Given the description of an element on the screen output the (x, y) to click on. 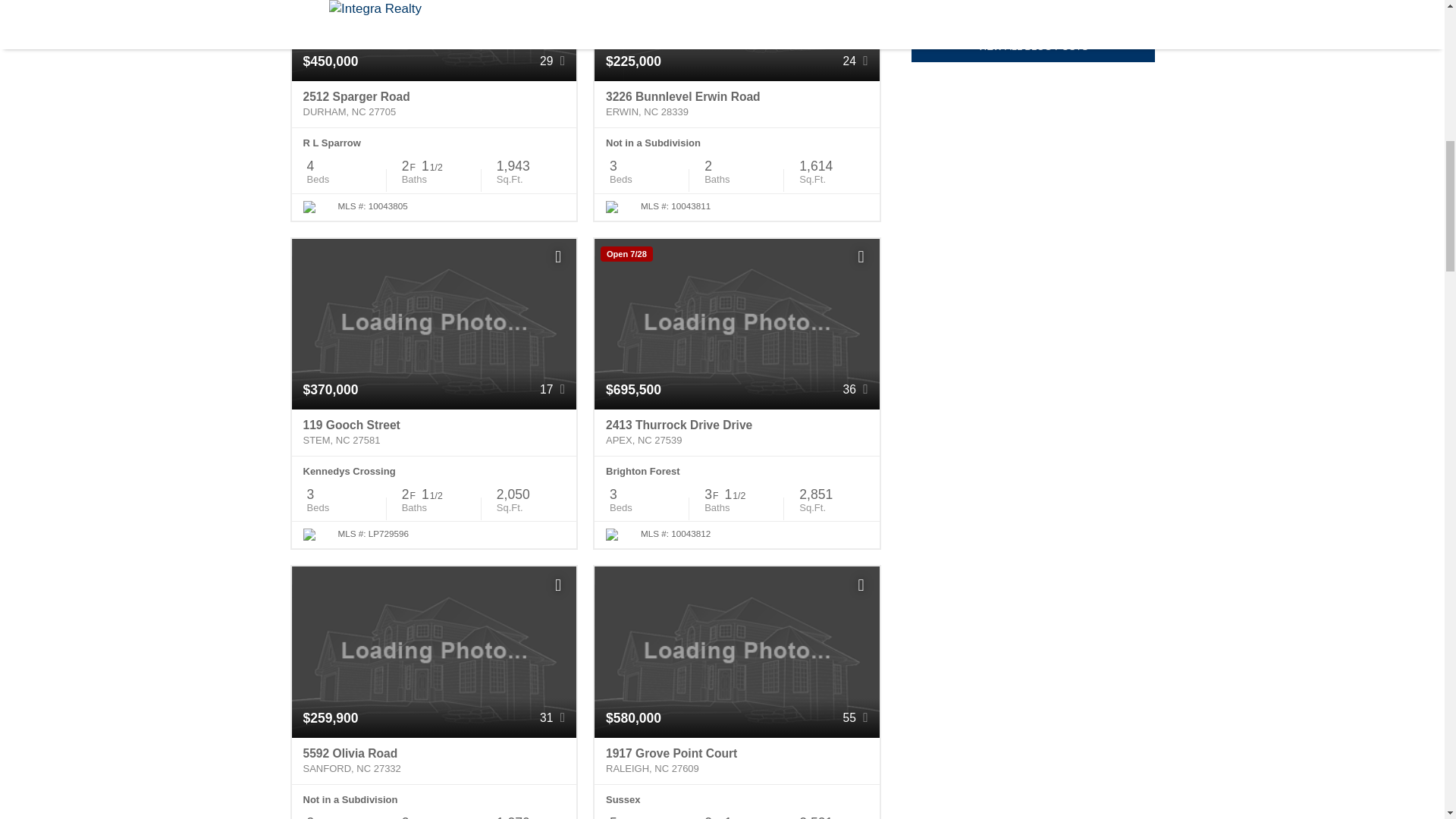
1917 Grove Point Court Raleigh,  NC 27609 (736, 760)
3226 Bunnlevel Erwin Road Erwin,  NC 28339 (736, 104)
119 Gooch Street Stem,  NC 27581 (433, 432)
2512 Sparger Road Durham,  NC 27705 (433, 104)
5592 Olivia Road Sanford,  NC 27332 (433, 760)
2413 Thurrock Drive Drive Apex,  NC 27539 (736, 432)
